Given the description of an element on the screen output the (x, y) to click on. 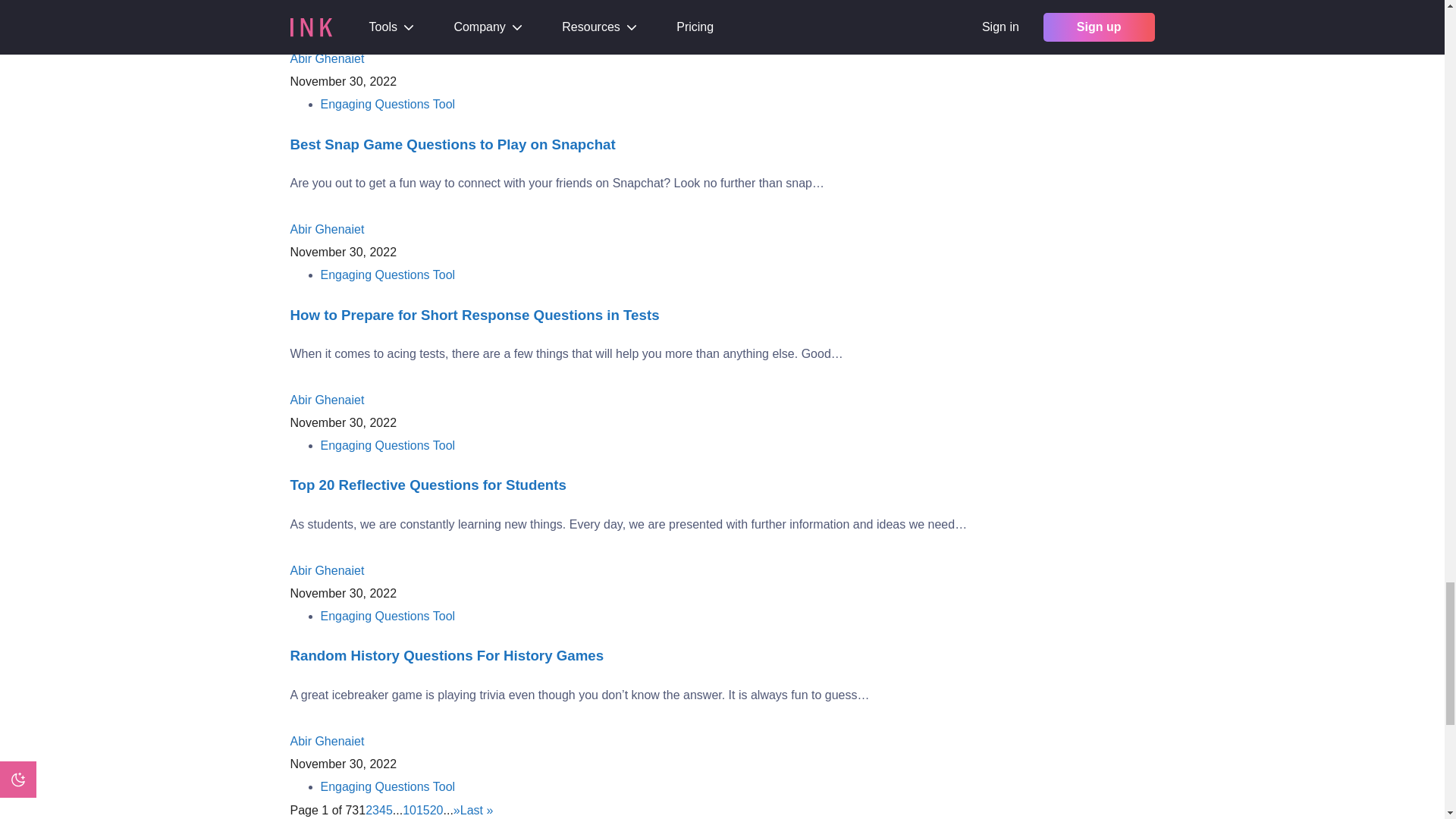
Page 15 (422, 809)
Page 2 (368, 809)
Page 4 (381, 809)
Page 3 (375, 809)
Page 20 (436, 809)
Page 5 (389, 809)
Page 10 (409, 809)
